Given the description of an element on the screen output the (x, y) to click on. 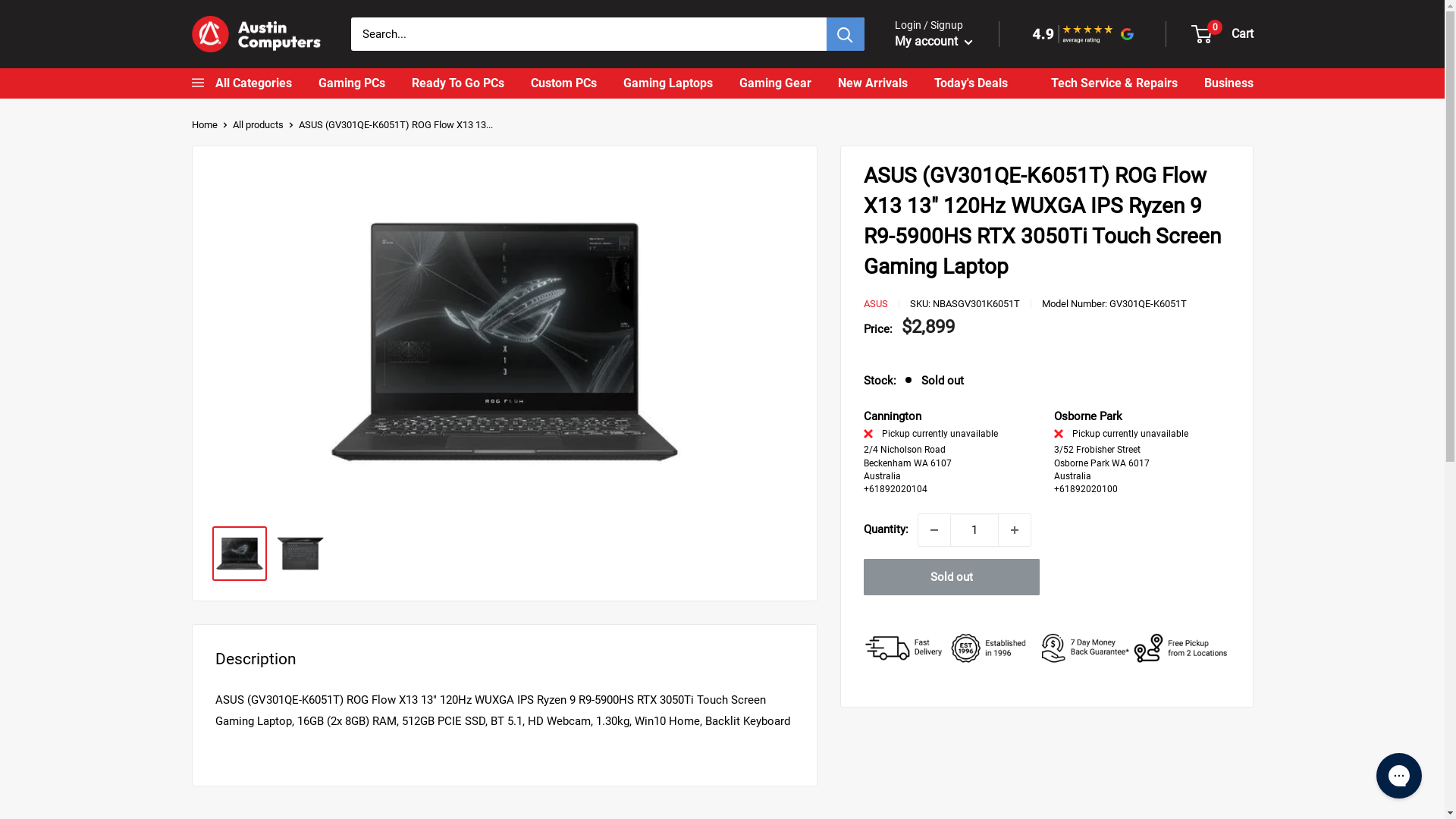
Decrease quantity by 1 Element type: hover (933, 530)
All products Element type: text (257, 124)
Today's Deals Element type: text (970, 83)
Sold out Element type: text (950, 576)
Gorgias live chat messenger Element type: hover (1398, 775)
Gaming PCs Element type: text (351, 83)
All Categories Element type: text (241, 83)
Gaming Gear Element type: text (774, 83)
Custom PCs Element type: text (563, 83)
Home Element type: text (203, 124)
Austin Computers Element type: text (255, 34)
Ready To Go PCs Element type: text (457, 83)
Tech Service & Repairs Element type: text (1114, 83)
ASUS Element type: text (874, 303)
Business Element type: text (1228, 83)
My account Element type: text (933, 41)
Increase quantity by 1 Element type: hover (1013, 530)
Gaming Laptops Element type: text (667, 83)
0
Cart Element type: text (1222, 33)
New Arrivals Element type: text (871, 83)
